Given the description of an element on the screen output the (x, y) to click on. 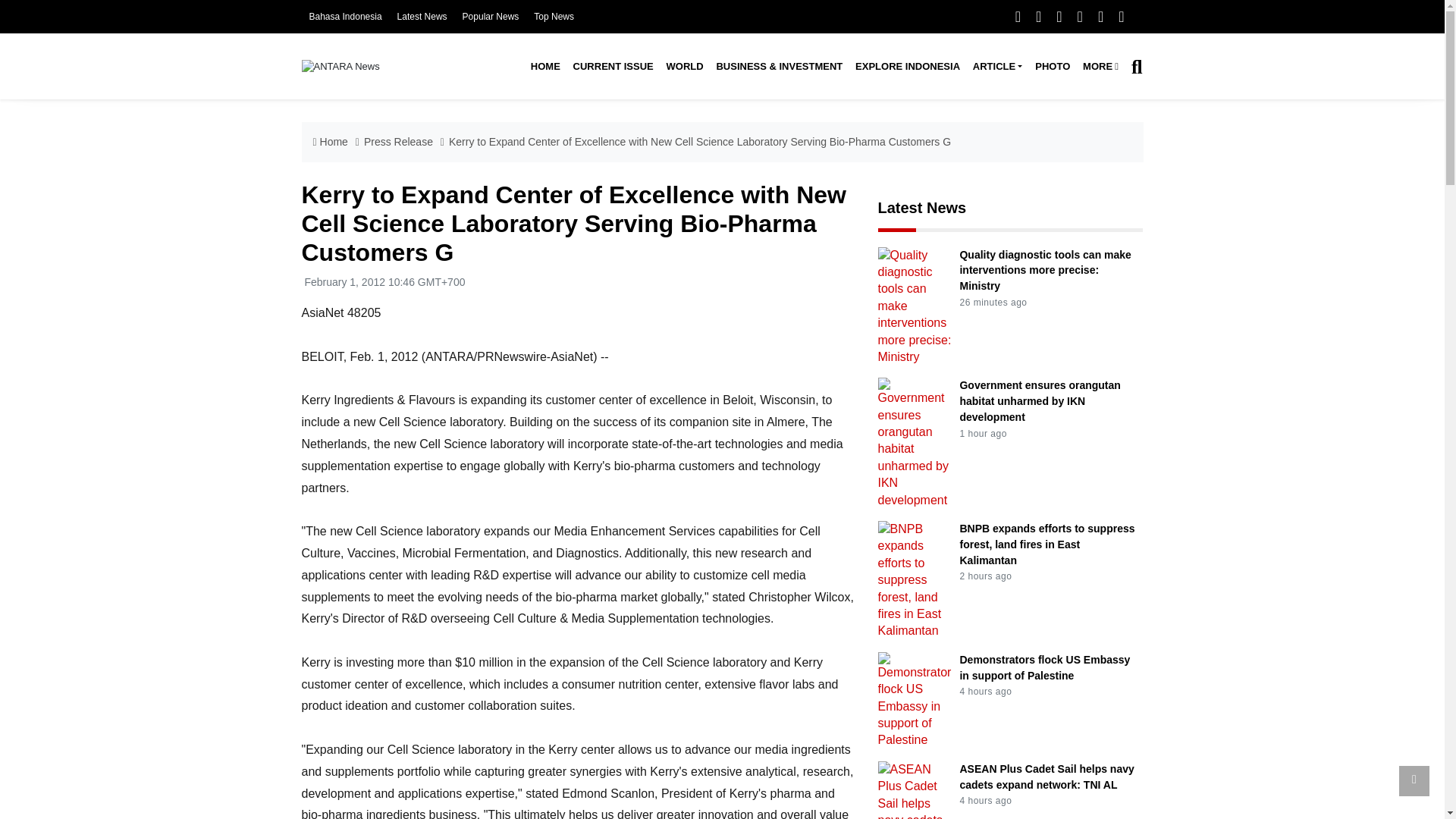
Current Issue (612, 66)
Top News (553, 16)
Popular News (491, 16)
Latest News (421, 16)
Explore Indonesia (907, 66)
CURRENT ISSUE (612, 66)
EXPLORE INDONESIA (907, 66)
Latest News (421, 16)
Top News (553, 16)
